Given the description of an element on the screen output the (x, y) to click on. 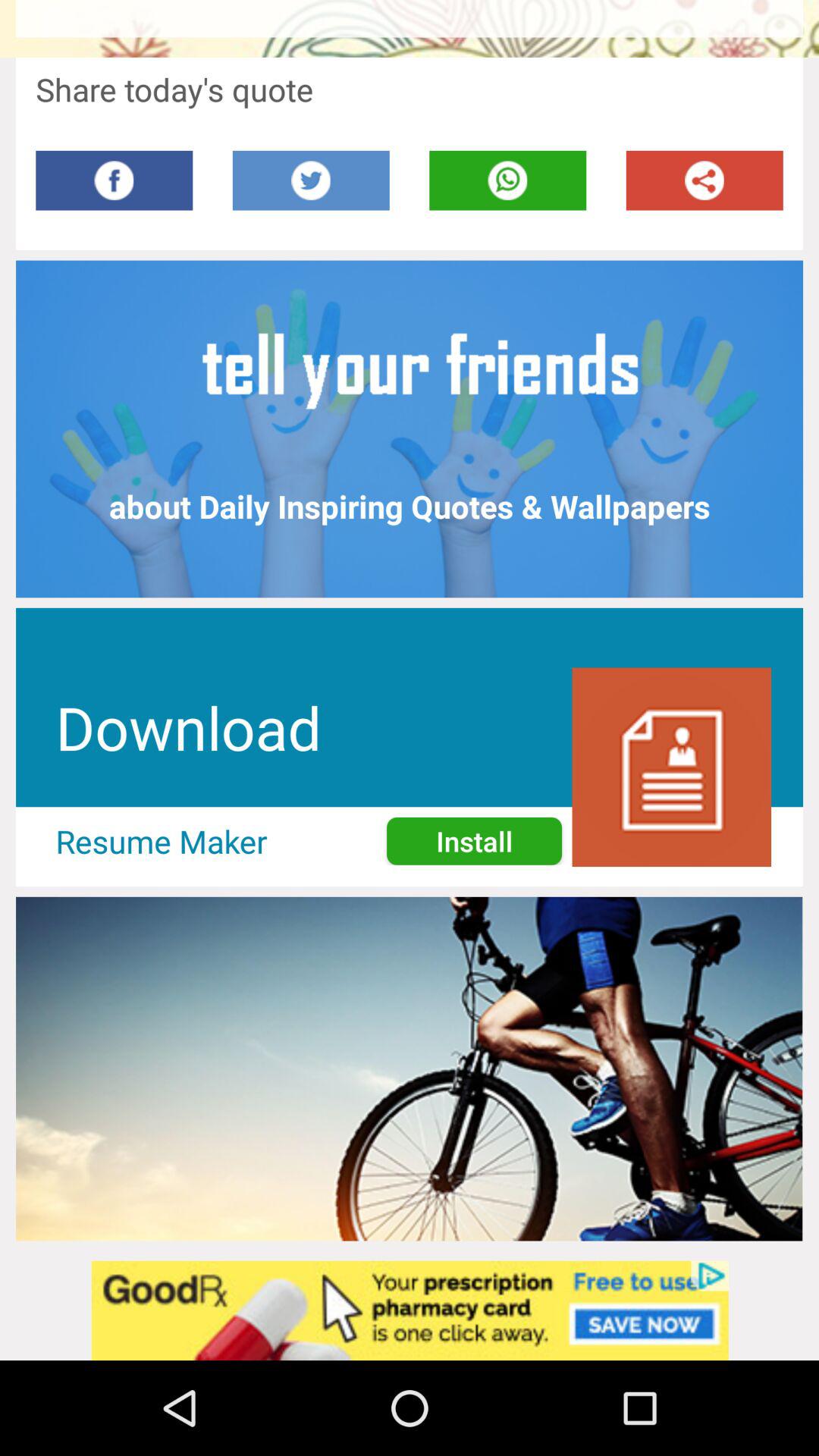
share the articles (704, 180)
